Given the description of an element on the screen output the (x, y) to click on. 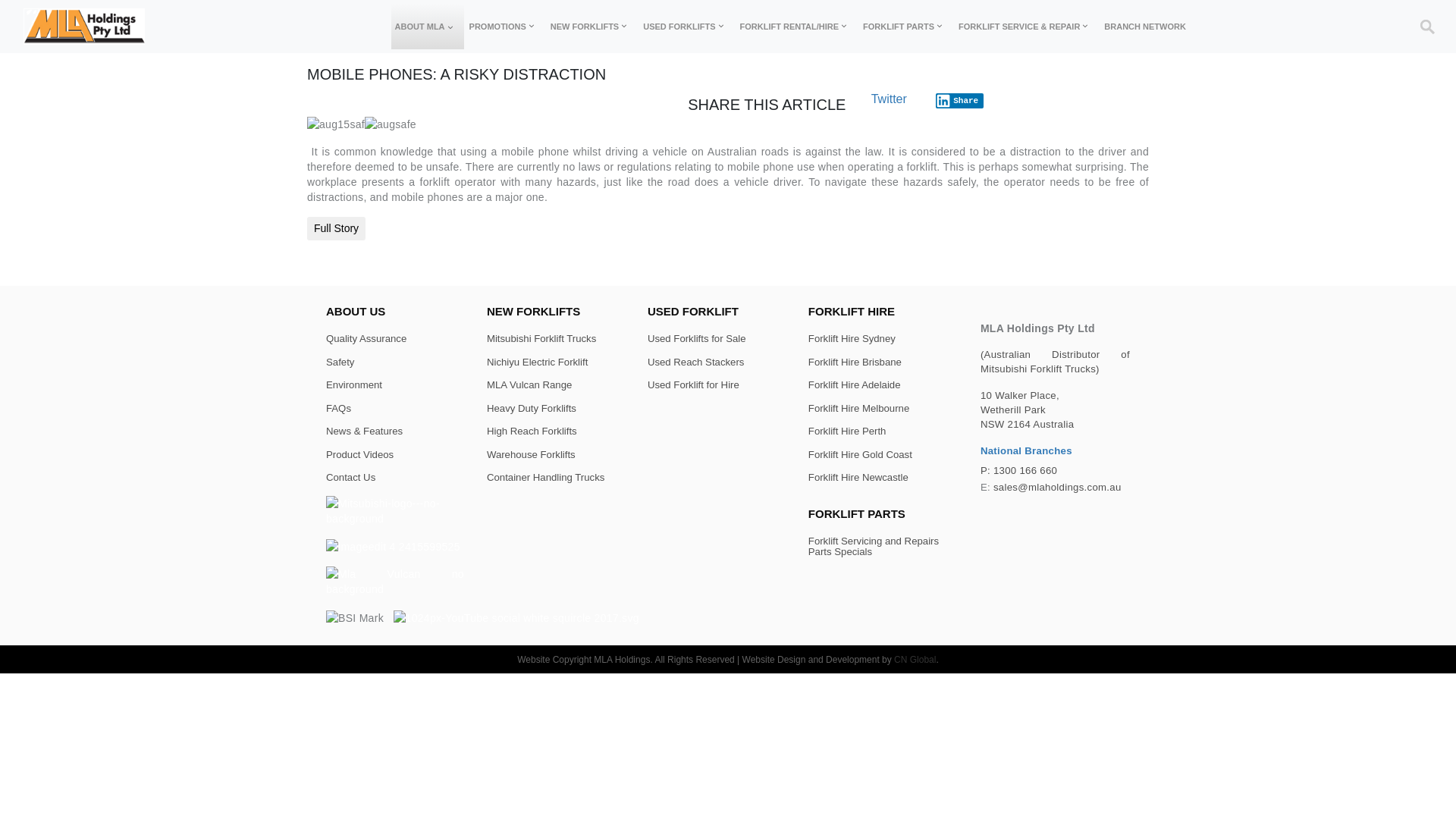
Forklift Hire Newcastle Element type: text (858, 477)
Nichiyu Electric Forklift Element type: text (536, 361)
FORKLIFT RENTAL/HIRE Element type: text (797, 26)
Twitter Element type: text (888, 98)
Heavy Duty Forklifts Element type: text (531, 408)
Forklift Servicing and Repairs Element type: text (873, 540)
Safety Element type: text (340, 361)
High Reach Forklifts Element type: text (531, 430)
MLA Vulcan Range Element type: text (528, 384)
Forklift Hire Perth Element type: text (847, 430)
FORKLIFT PARTS Element type: text (905, 26)
sales@mlaholdings.com.au Element type: text (1057, 486)
Contact Us Element type: text (350, 477)
Share Element type: text (959, 100)
Quality Assurance Element type: text (366, 338)
  Element type: text (145, 26)
Parts Specials Element type: text (840, 551)
ABOUT MLA Element type: text (427, 26)
Full Story Element type: text (336, 228)
Used Forklifts for Sale Element type: text (696, 338)
Product Videos Element type: text (359, 454)
PROMOTIONS Element type: text (505, 26)
Environment Element type: text (354, 384)
Forklift Hire Brisbane Element type: text (854, 361)
Forklift Hire Adelaide Element type: text (854, 384)
Used Reach Stackers Element type: text (695, 361)
FAQs Element type: text (338, 408)
USED FORKLIFTS Element type: text (686, 26)
Mitsubishi Forklift Trucks Element type: text (541, 338)
Reset Element type: text (6, 2)
Forklift Hire Melbourne Element type: text (858, 408)
NEW FORKLIFTS Element type: text (592, 26)
1300 166 660 Element type: text (1025, 470)
Forklift Hire Gold Coast Element type: text (860, 454)
Warehouse Forklifts Element type: text (530, 454)
National Branches Element type: text (1026, 450)
FORKLIFT SERVICE & REPAIR Element type: text (1026, 26)
CN Global Element type: text (914, 658)
News & Features Element type: text (364, 430)
Used Forklift for Hire Element type: text (693, 384)
BRANCH NETWORK Element type: text (1144, 26)
Forklift Hire Sydney Element type: text (851, 338)
Container Handling Trucks Element type: text (545, 477)
